Given the description of an element on the screen output the (x, y) to click on. 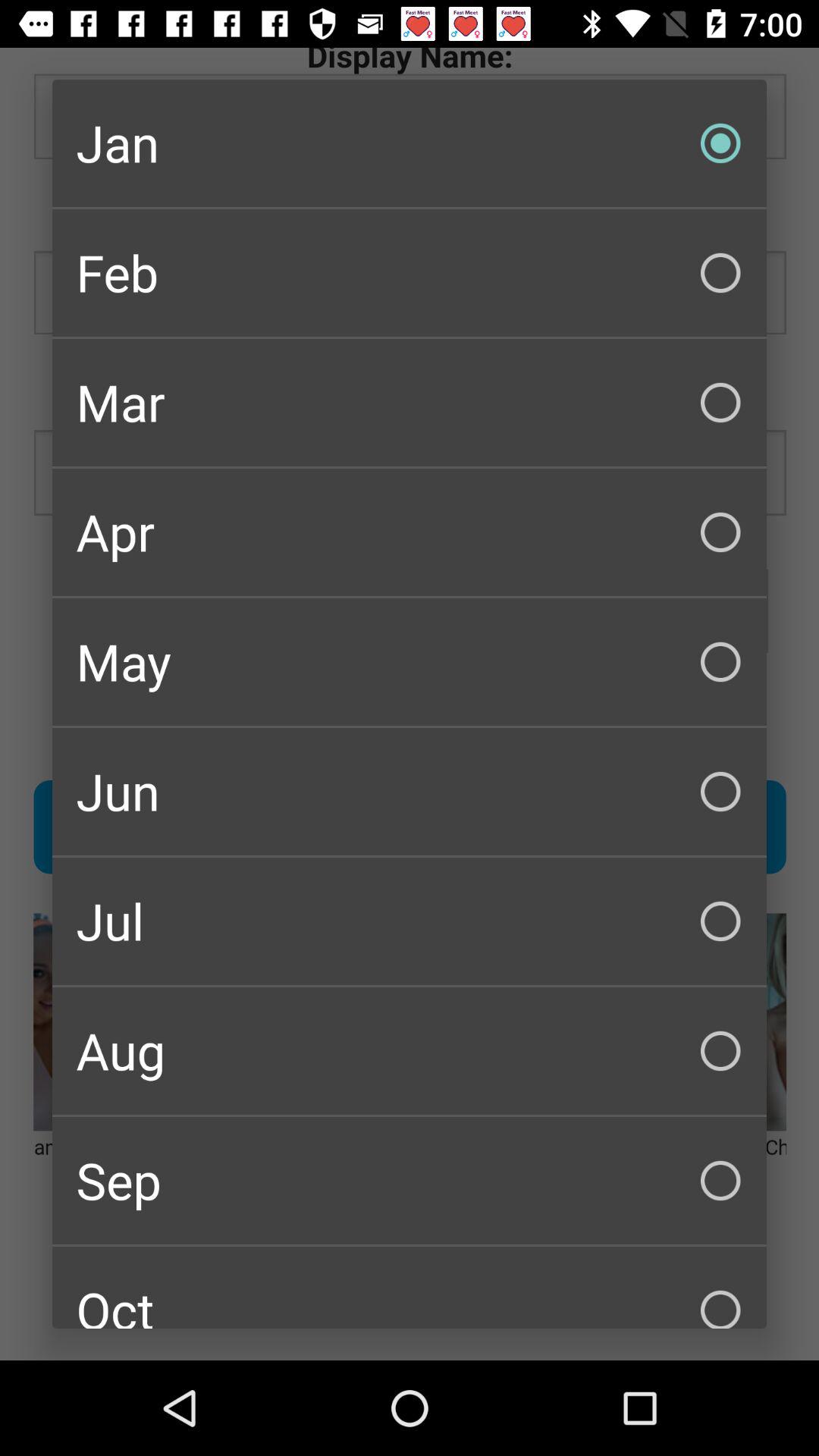
open may icon (409, 661)
